Given the description of an element on the screen output the (x, y) to click on. 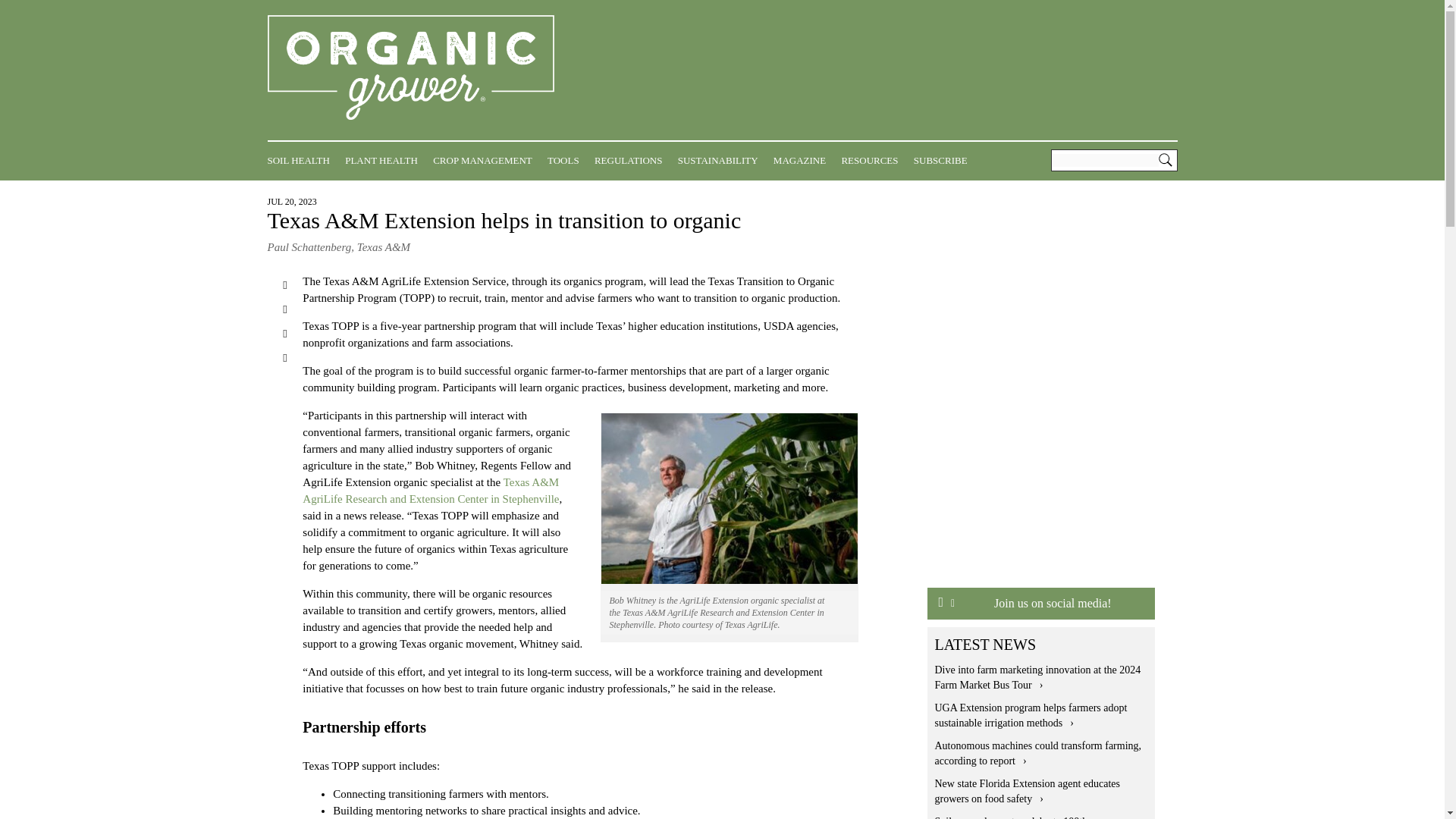
Soil research arm to celebrate 100th year (1026, 817)
SUBSCRIBE (944, 160)
RESOURCES (873, 160)
MAGAZINE (802, 160)
TOOLS (566, 160)
SUSTAINABILITY (721, 160)
SOIL HEALTH (301, 160)
REGULATIONS (631, 160)
CROP MANAGEMENT (486, 160)
PLANT HEALTH (385, 160)
